Given the description of an element on the screen output the (x, y) to click on. 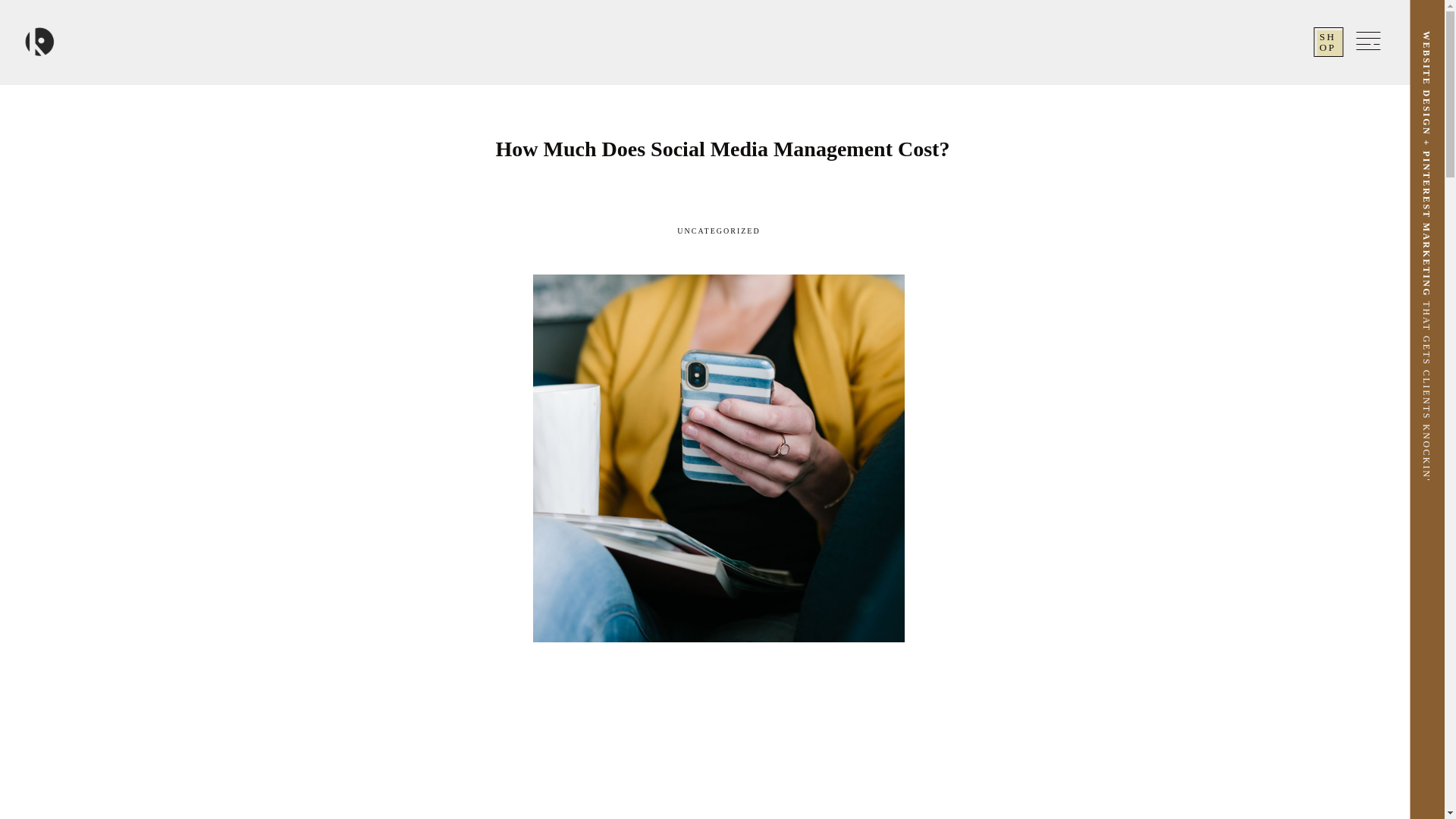
UNCATEGORIZED (718, 230)
